Given the description of an element on the screen output the (x, y) to click on. 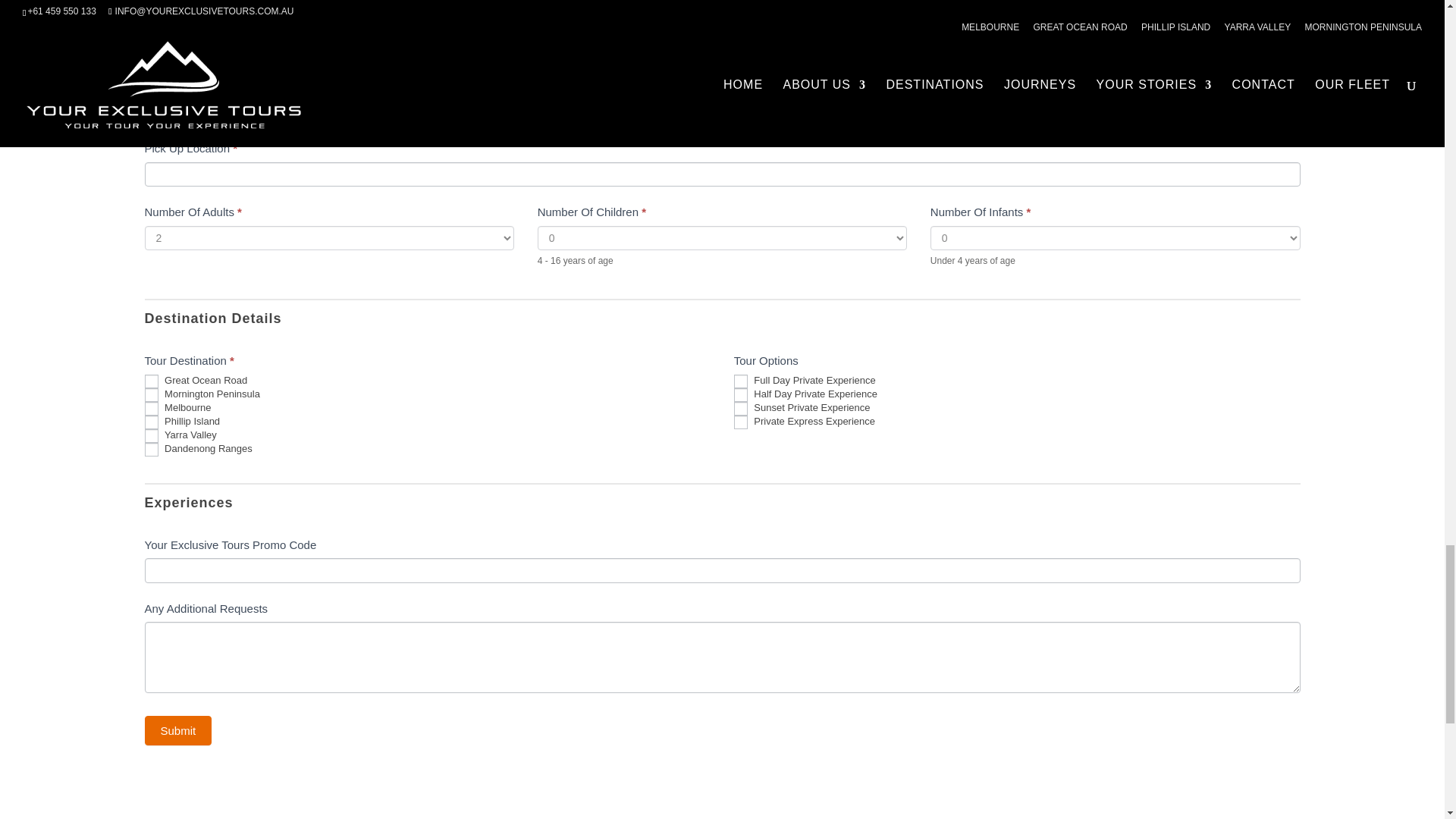
GOR (150, 381)
MP (150, 395)
Private Express Experience (740, 422)
YV (150, 436)
MSS (150, 408)
Half Day Private Experience (740, 395)
DR (150, 449)
PI (150, 422)
Full Day Private Experience (740, 381)
Sunset Private Experience (740, 408)
